Given the description of an element on the screen output the (x, y) to click on. 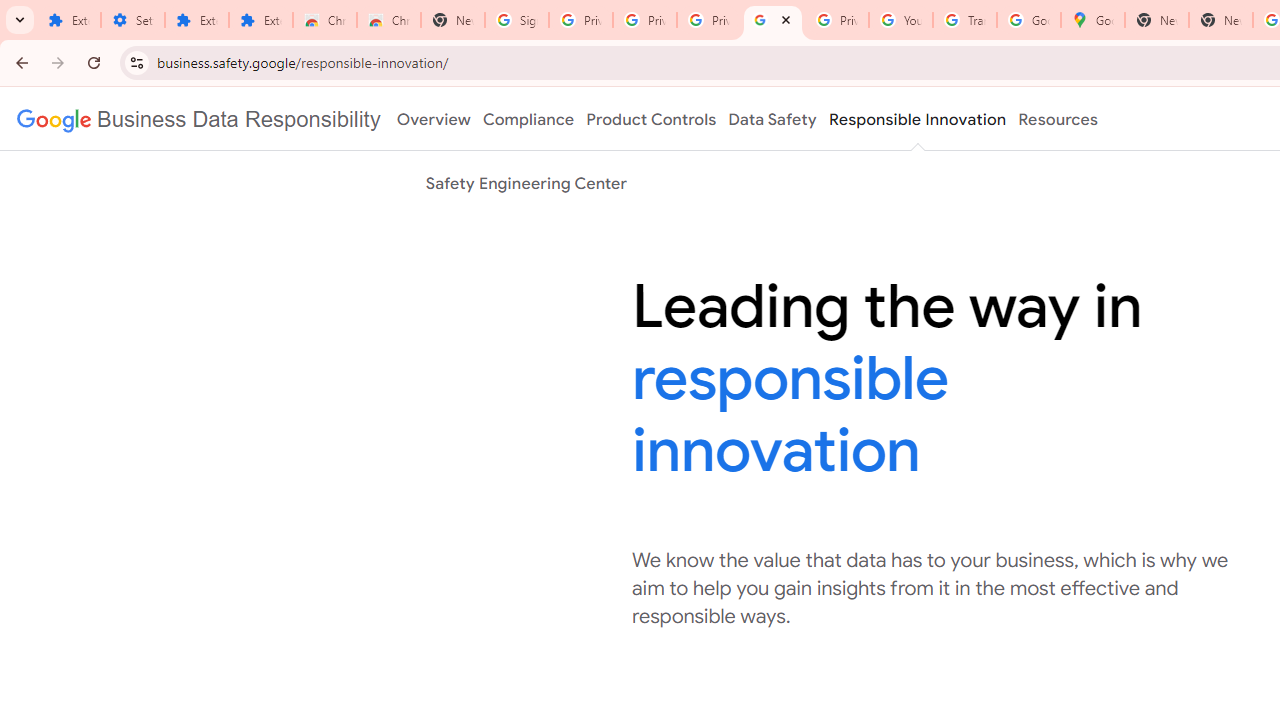
Chrome Web Store (325, 20)
YouTube (901, 20)
Extensions (261, 20)
Chrome Web Store - Themes (389, 20)
Extensions (197, 20)
Settings (133, 20)
Resources (1058, 119)
New Tab (453, 20)
